Given the description of an element on the screen output the (x, y) to click on. 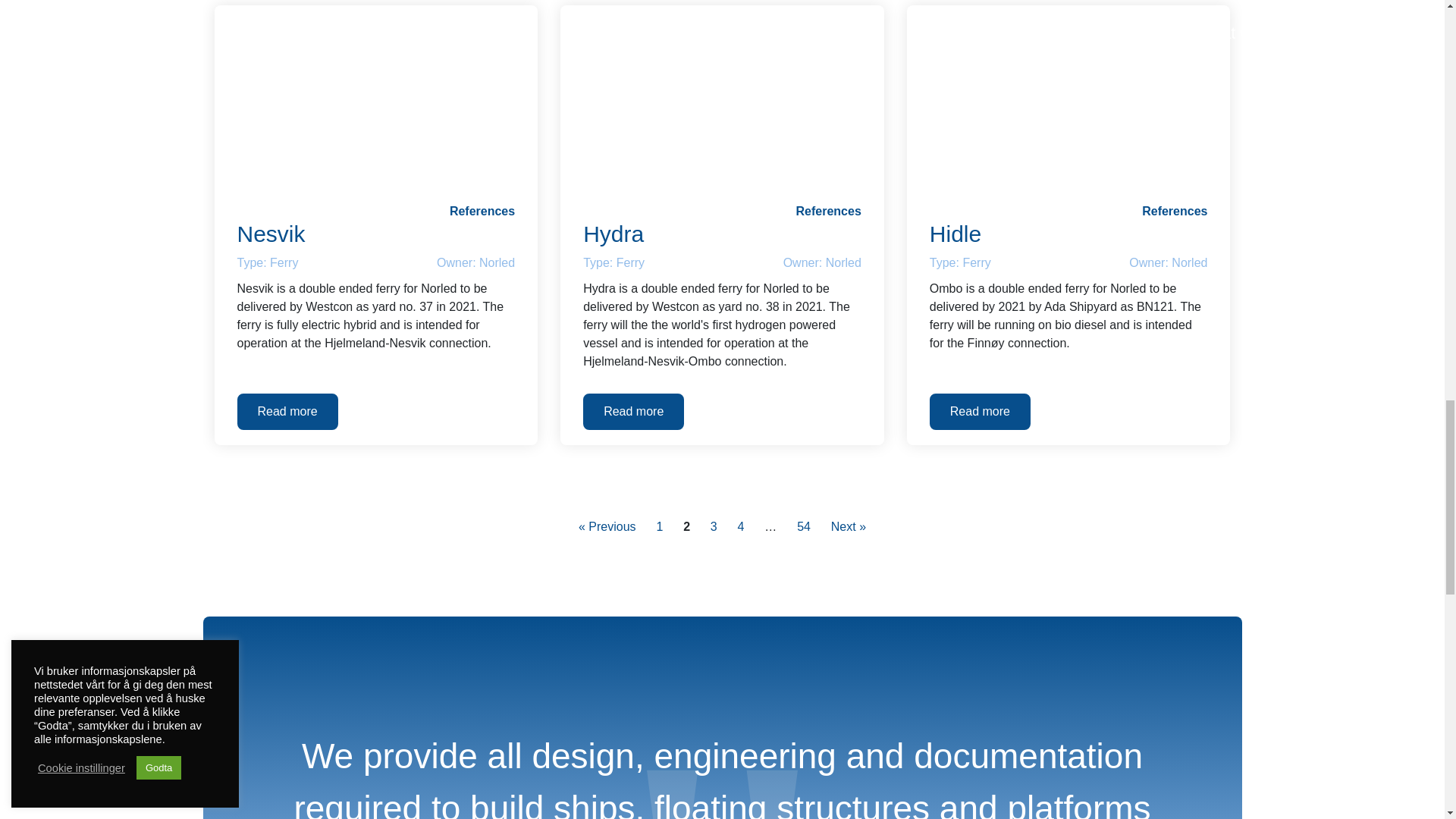
Read more (980, 411)
Read more (633, 411)
Hidle (1068, 99)
Nesvik (375, 99)
4 (740, 526)
Hidle (1069, 234)
3 (713, 526)
1 (659, 526)
Hydra (721, 99)
Read more (286, 411)
Hydra (722, 234)
Nesvik (375, 234)
